Given the description of an element on the screen output the (x, y) to click on. 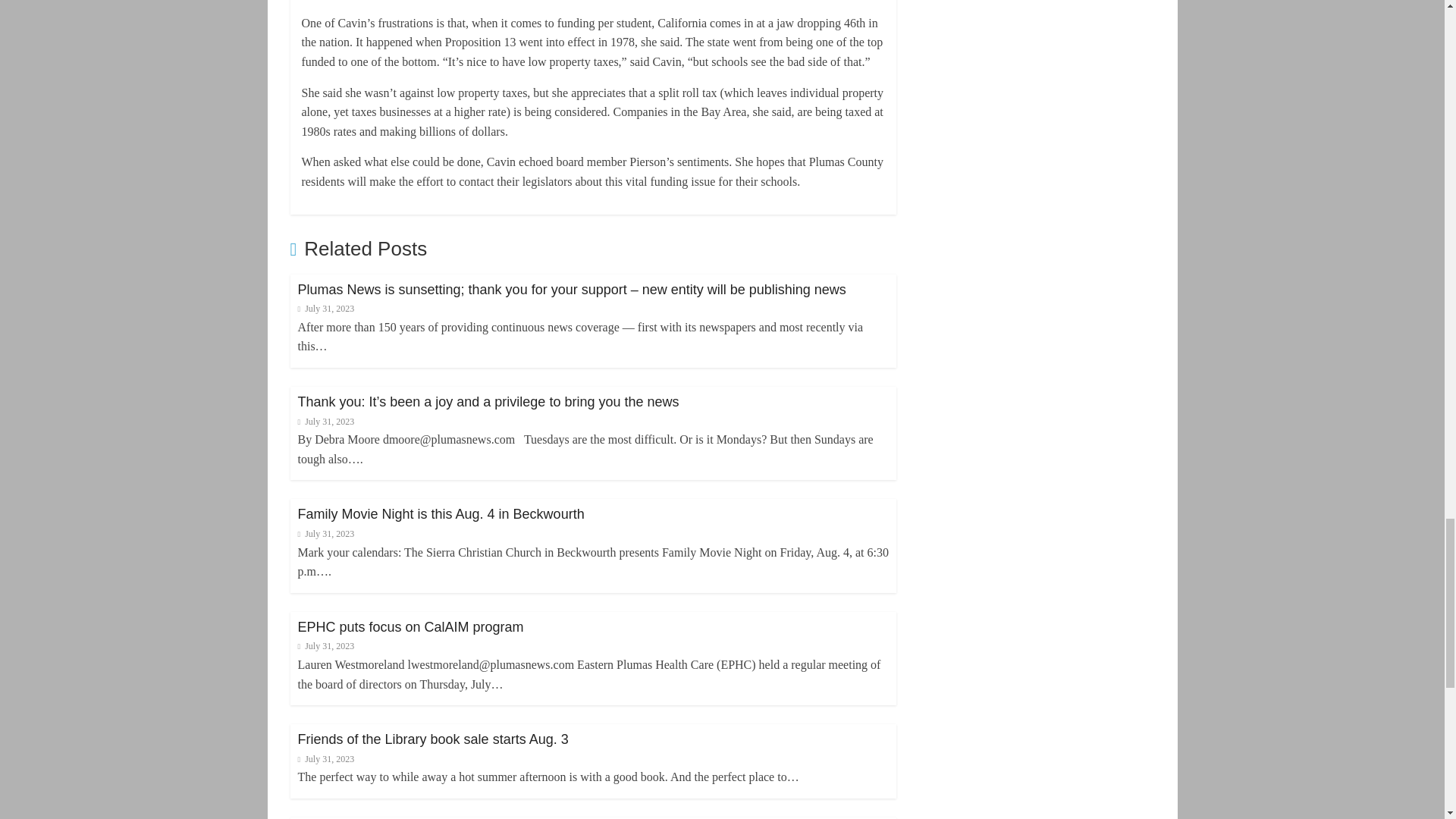
5:07 pm (325, 308)
